Given the description of an element on the screen output the (x, y) to click on. 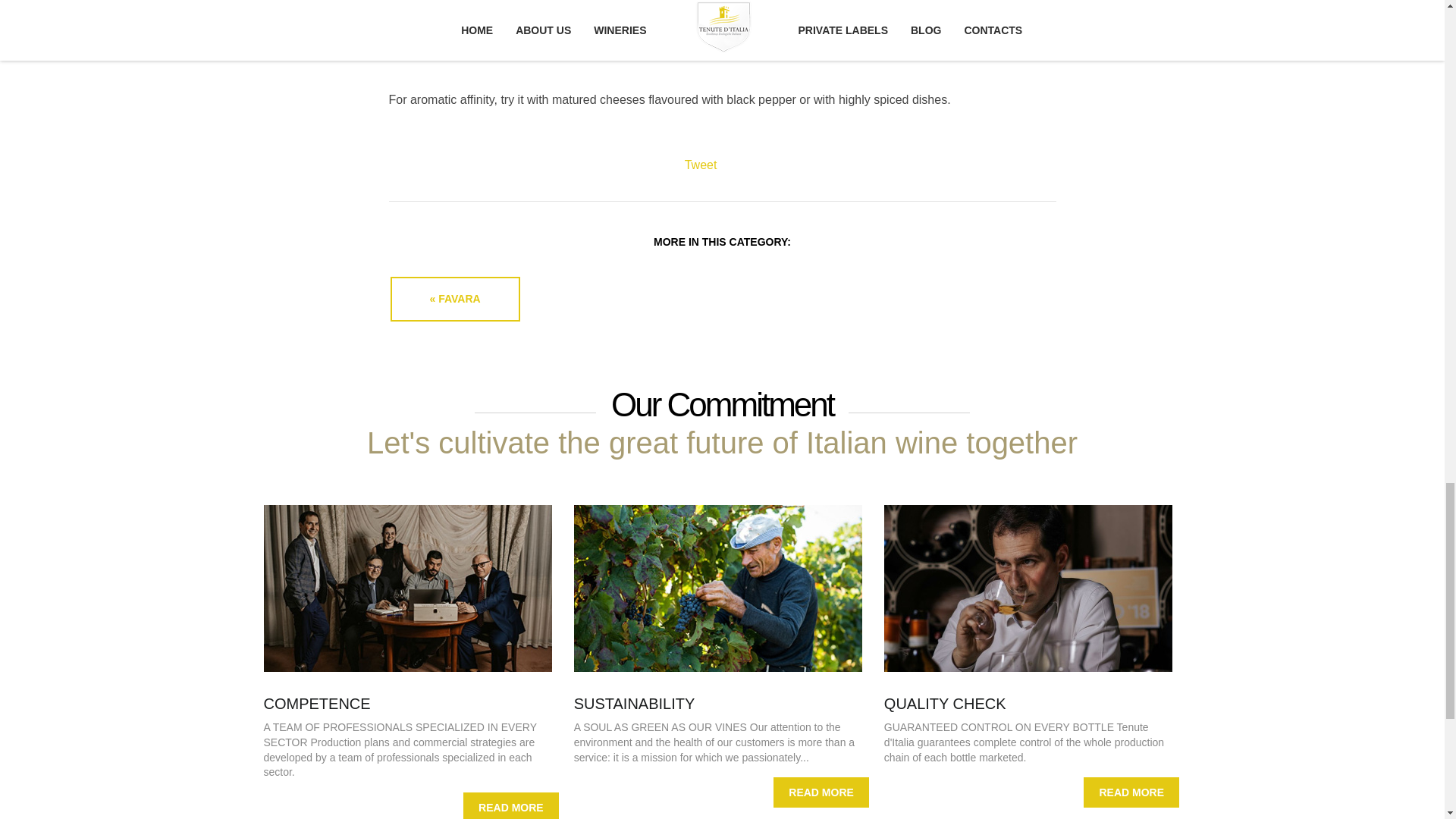
READ MORE (1131, 792)
QUALITY CHECK (944, 703)
READ MORE (511, 805)
COMPETENCE (317, 703)
COMPETENCE (317, 703)
Tweet (700, 164)
QUALITY CHECK (944, 703)
SUSTAINABILITY (634, 703)
SUSTAINABILITY (634, 703)
READ MORE (821, 792)
